Given the description of an element on the screen output the (x, y) to click on. 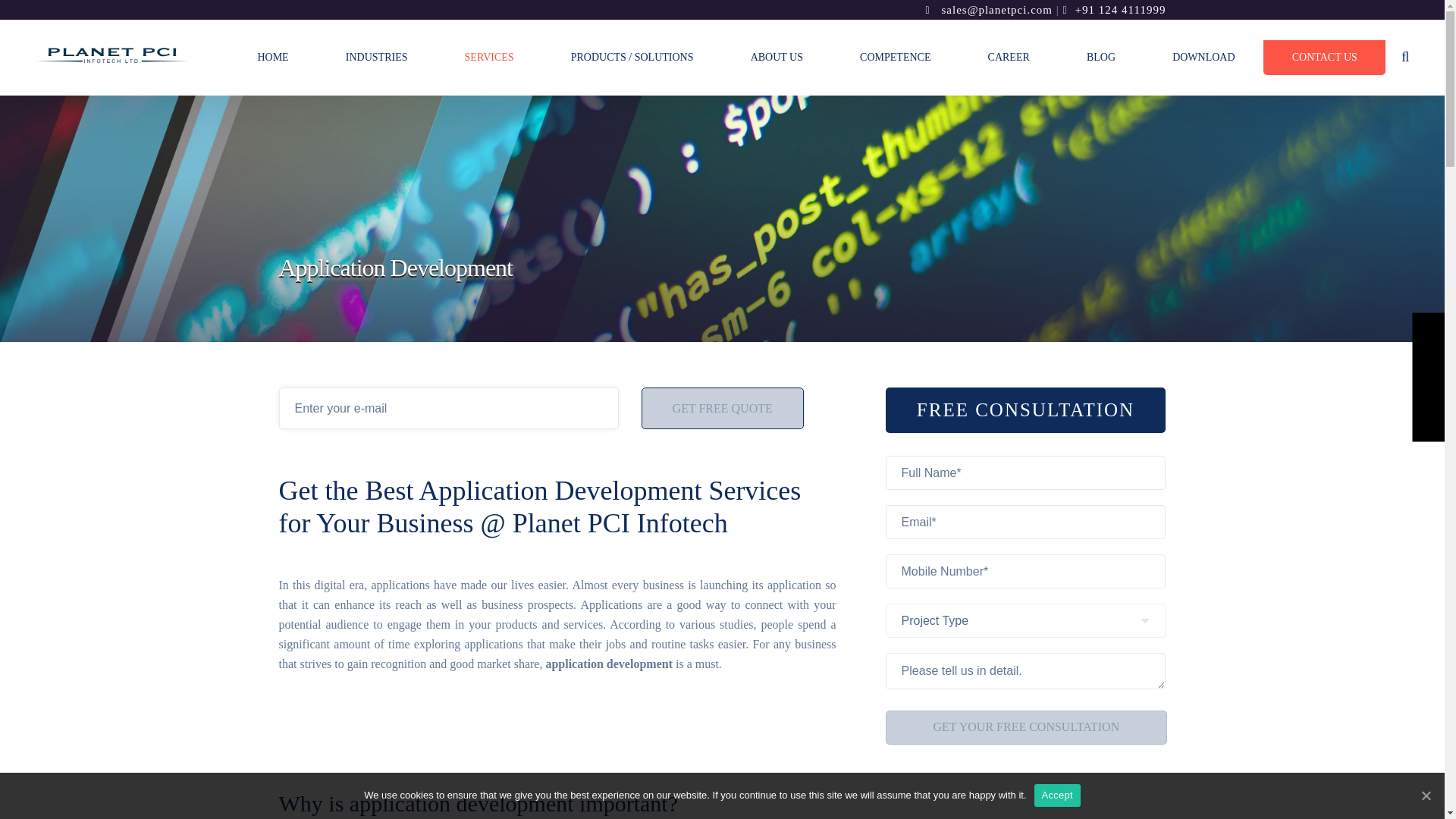
GET YOUR FREE CONSULTATION (1026, 727)
HOME (272, 57)
INDUSTRIES (376, 57)
SERVICES (488, 57)
GET FREE QUOTE (722, 408)
